Given the description of an element on the screen output the (x, y) to click on. 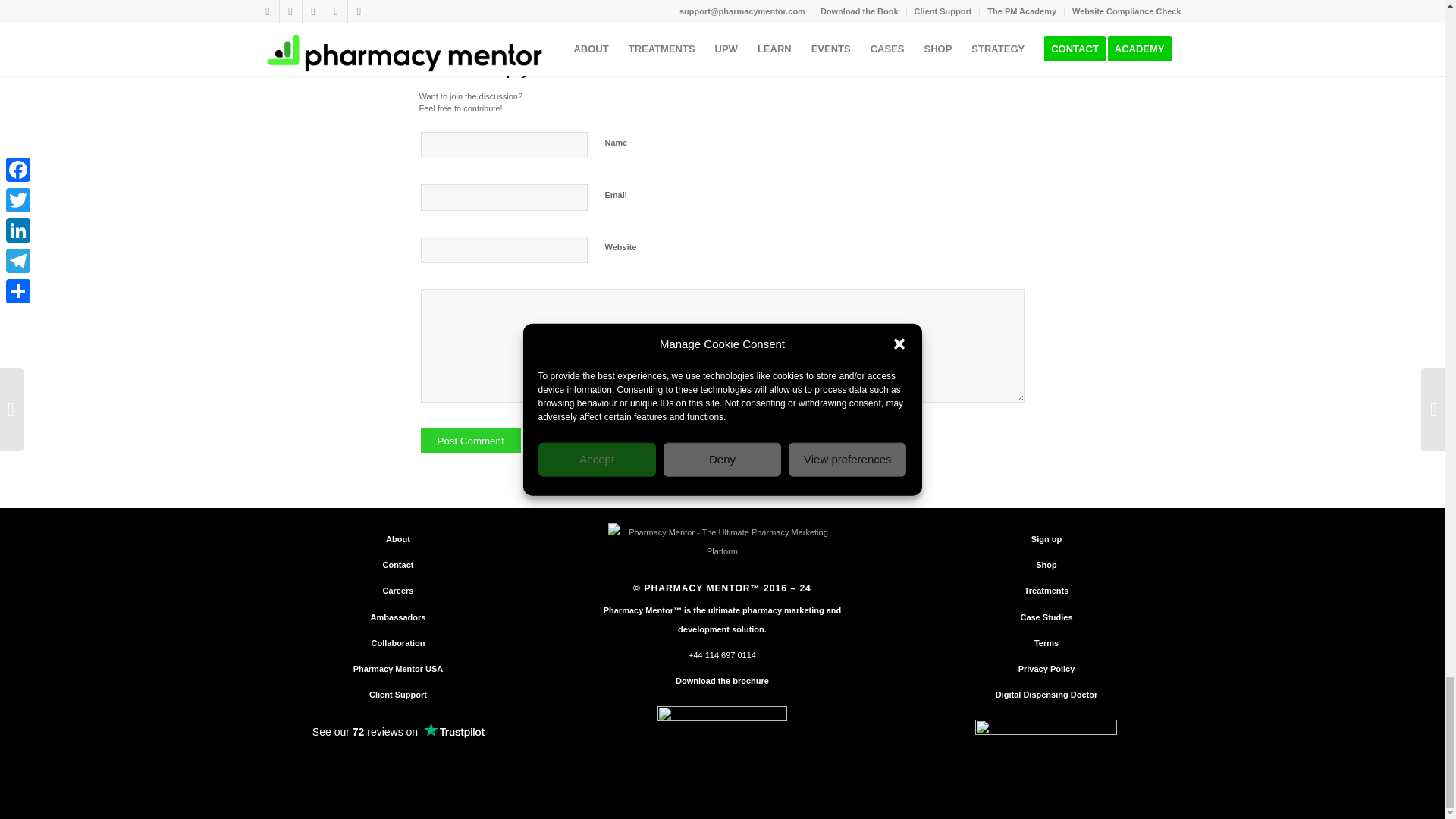
Post Comment (469, 440)
